Given the description of an element on the screen output the (x, y) to click on. 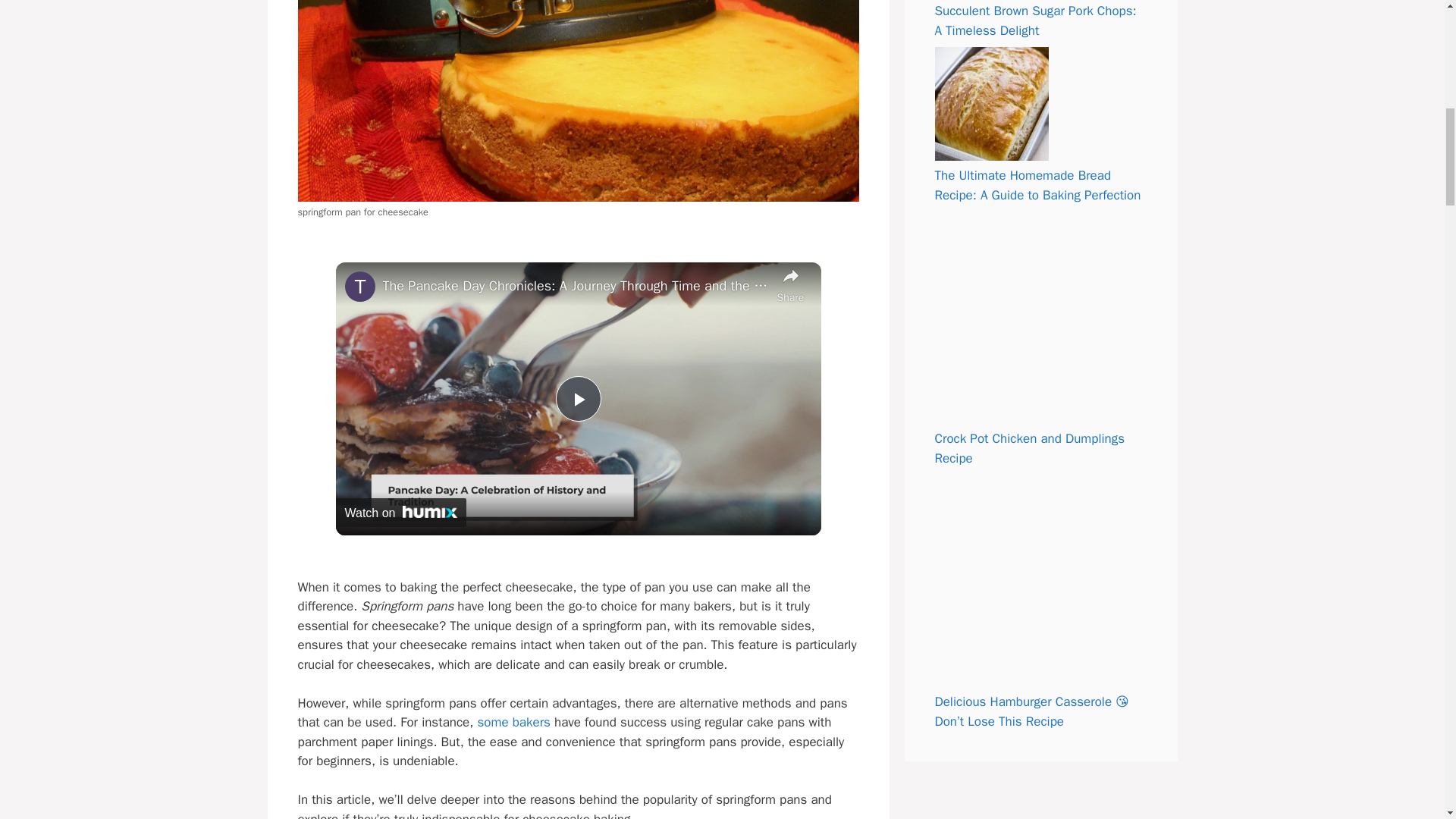
Scroll back to top (1406, 720)
some bakers (513, 722)
Play Video (576, 398)
Watch on (399, 512)
Play Video (576, 398)
